Given the description of an element on the screen output the (x, y) to click on. 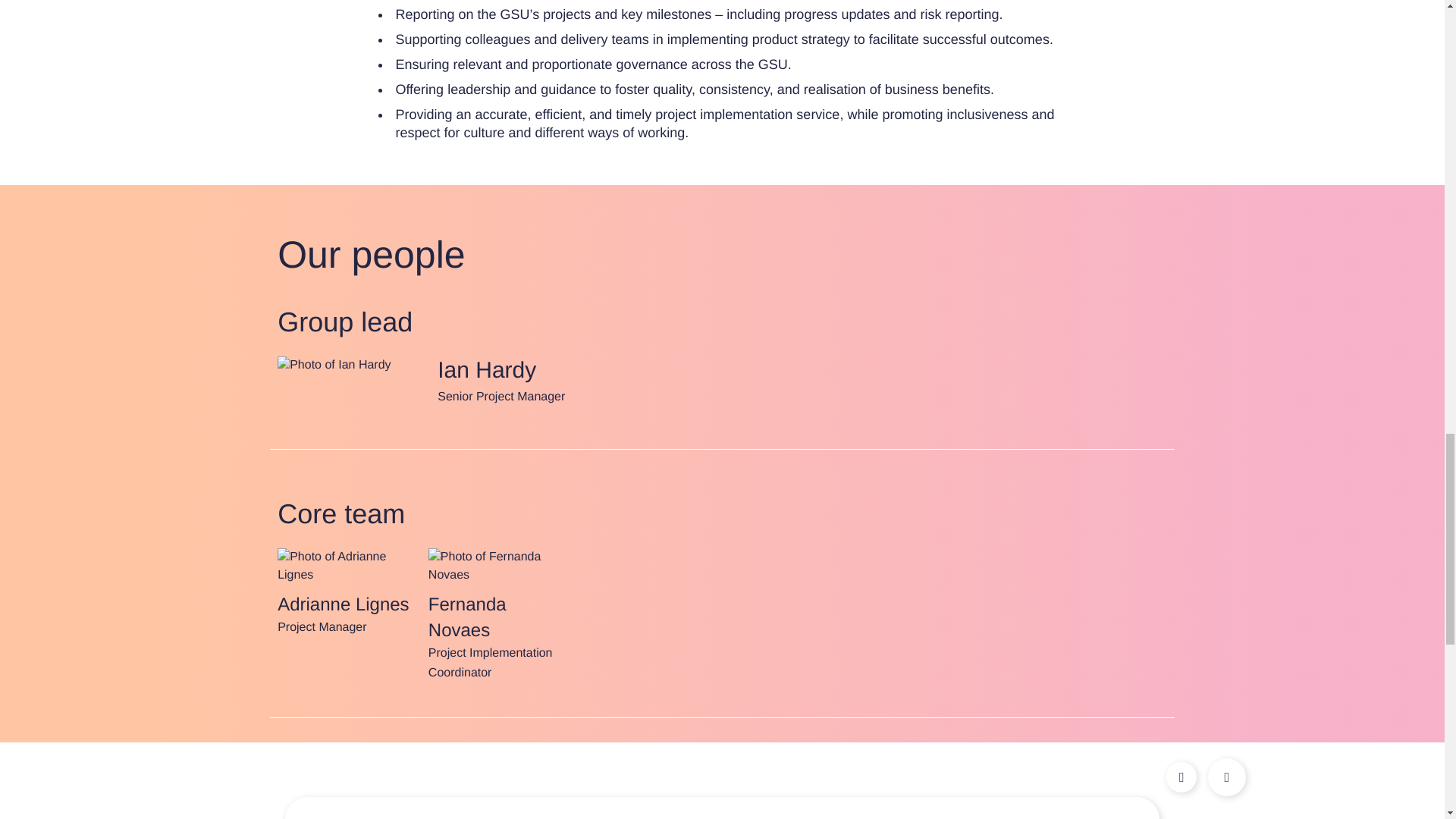
Fernanda Novaes (496, 703)
Adrianne Lignes (345, 703)
Ian Hardy (344, 423)
